Given the description of an element on the screen output the (x, y) to click on. 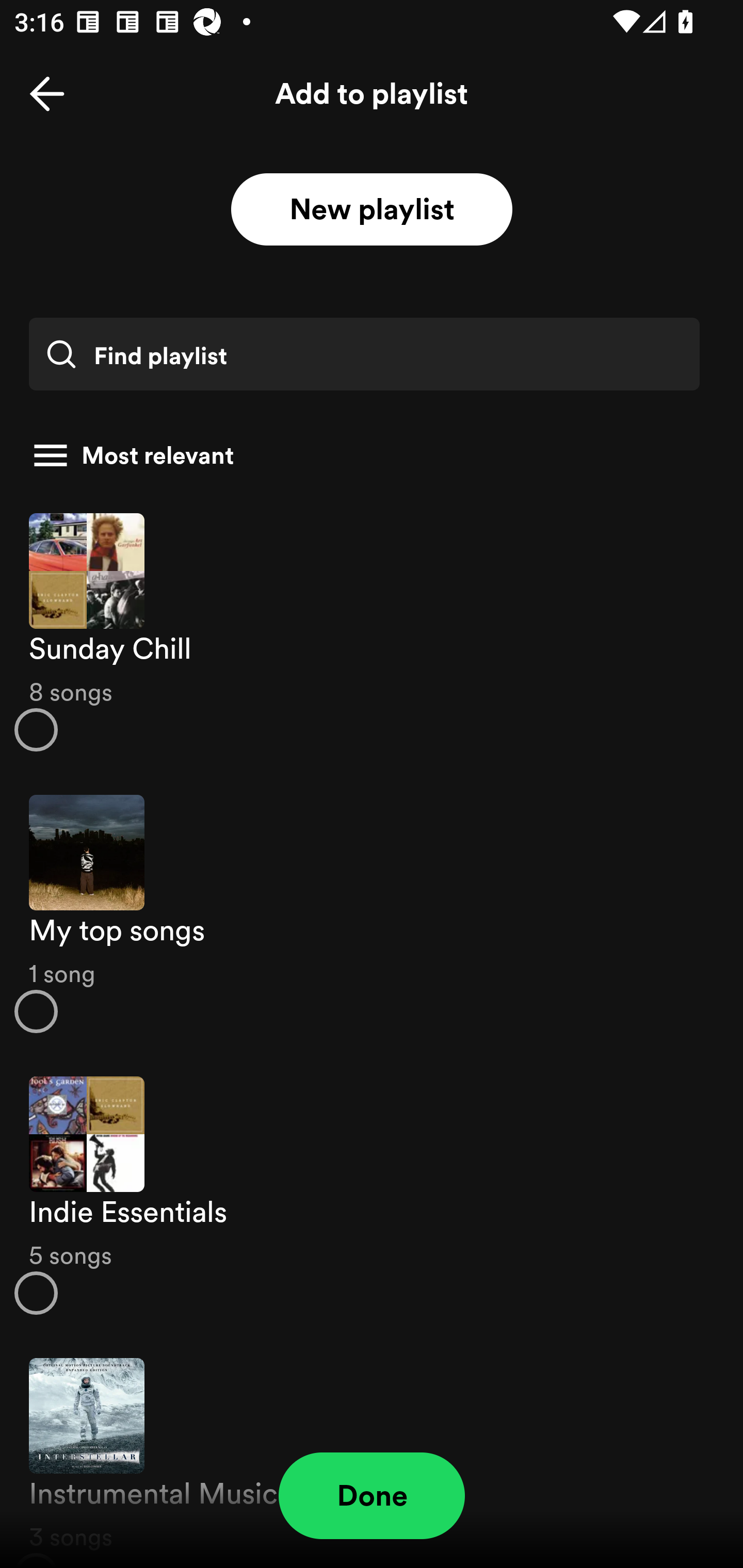
Back (46, 93)
New playlist (371, 210)
Find playlist (363, 354)
Most relevant (363, 455)
Sunday Chill 8 songs (371, 631)
My top songs 1 song (371, 914)
Indie Essentials 5 songs (371, 1195)
Instrumental Music 3 songs (371, 1451)
Done (371, 1495)
